Given the description of an element on the screen output the (x, y) to click on. 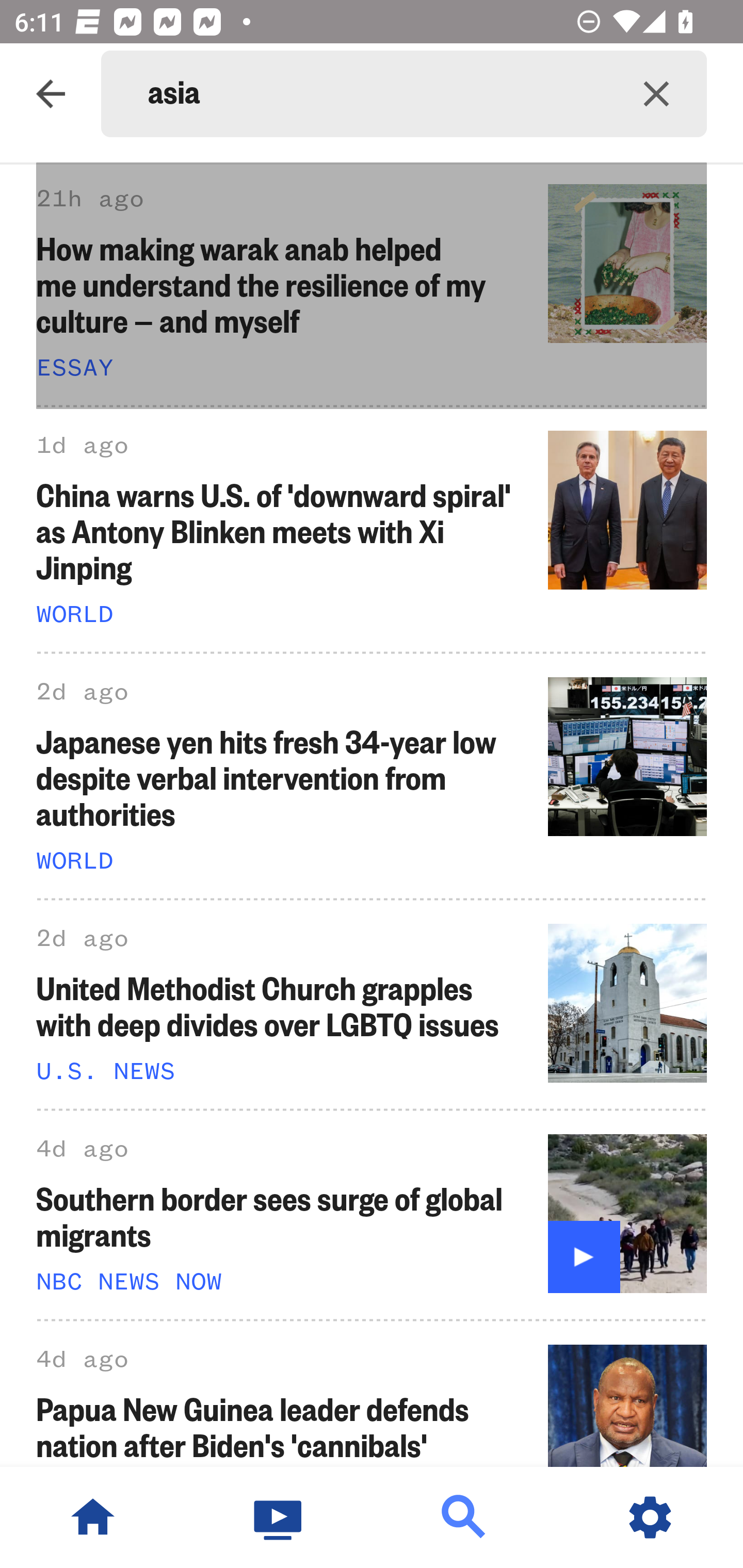
Navigate up (50, 93)
Clear query (656, 93)
asia (376, 94)
NBC News Home (92, 1517)
Watch (278, 1517)
Settings (650, 1517)
